Given the description of an element on the screen output the (x, y) to click on. 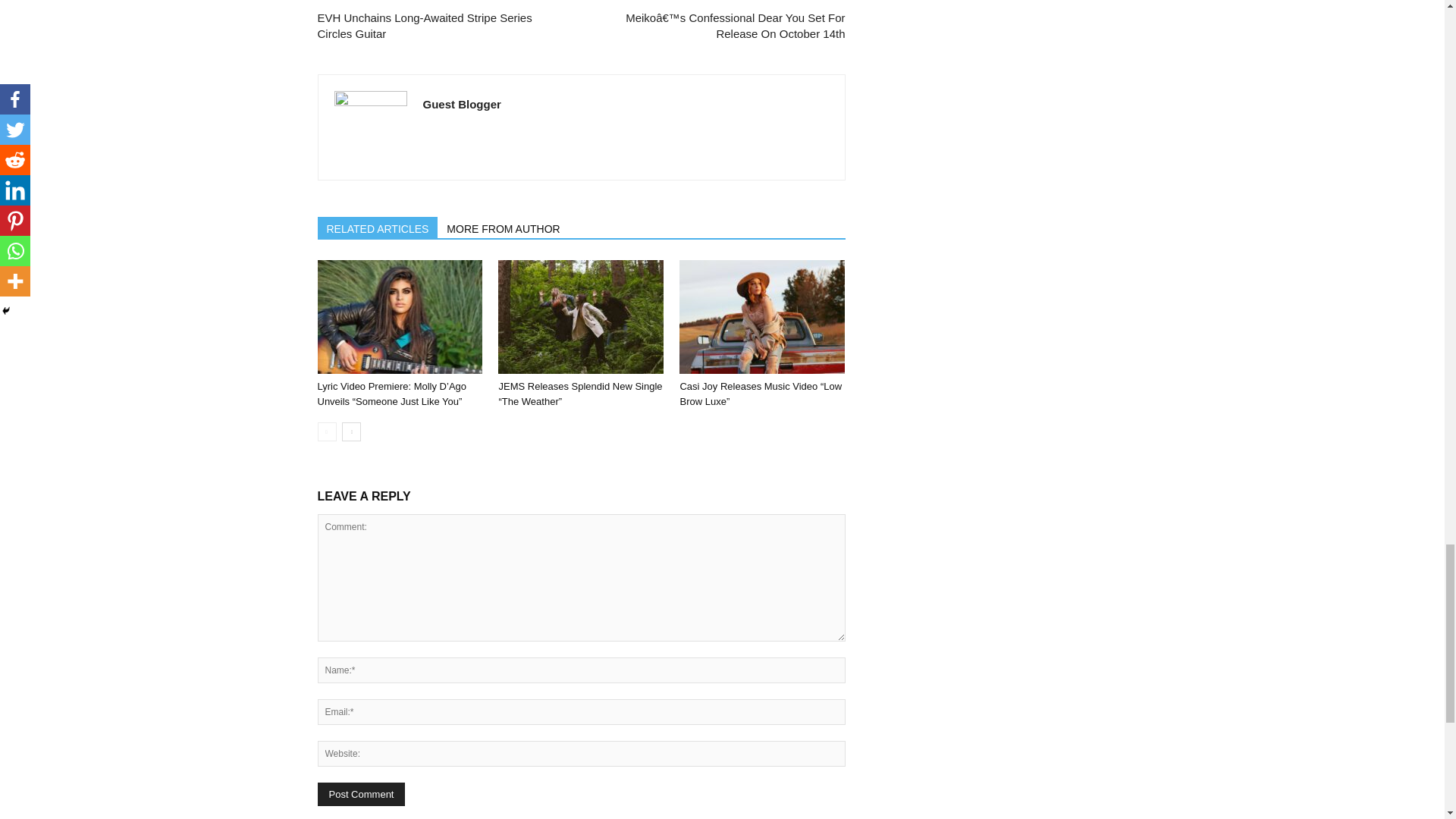
Post Comment (360, 793)
